Given the description of an element on the screen output the (x, y) to click on. 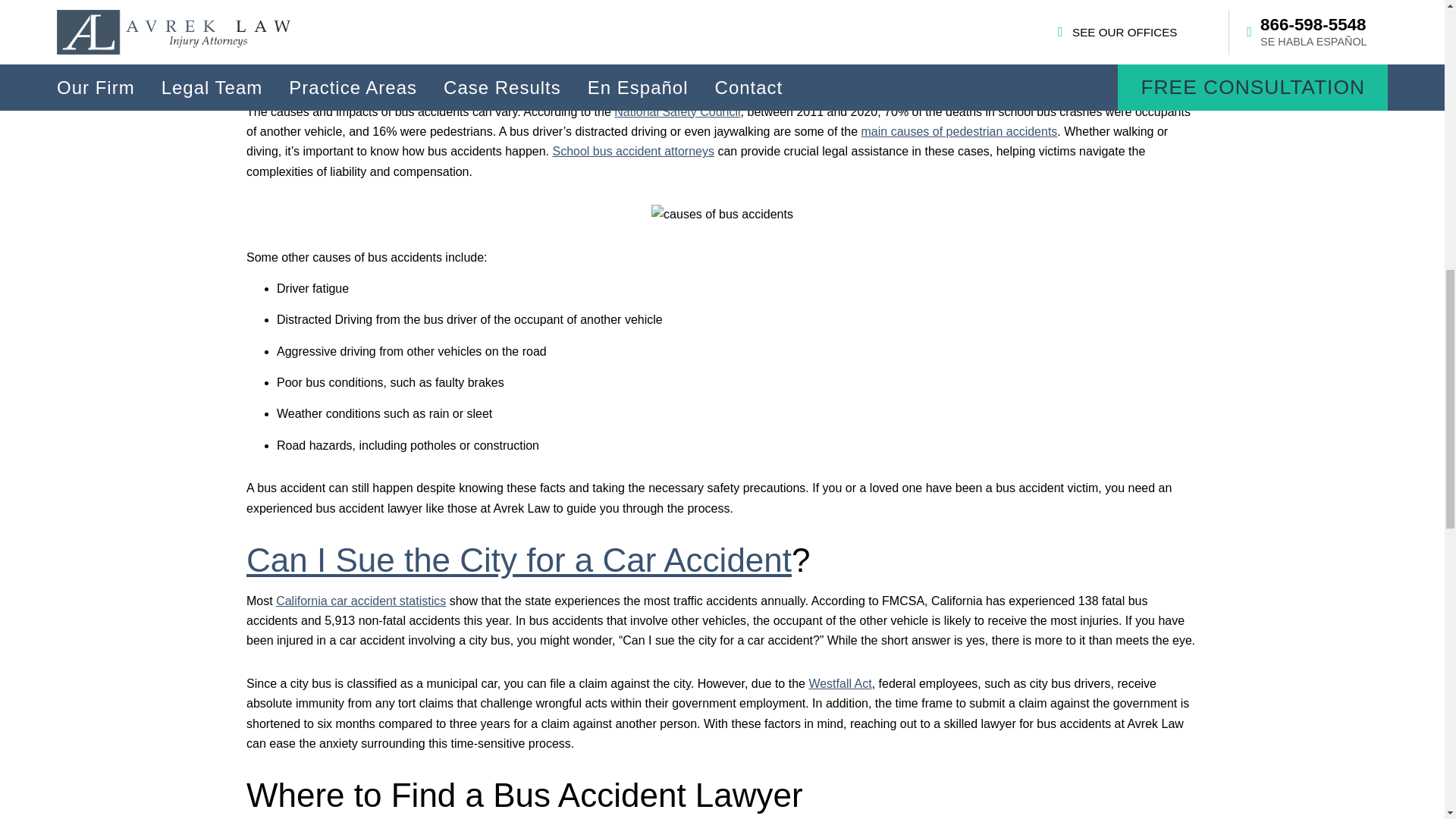
Federal Motor Carrier Safety Administration (535, 38)
S (558, 8)
t (564, 8)
atista (580, 8)
vehicle crashes surging (415, 8)
